Given the description of an element on the screen output the (x, y) to click on. 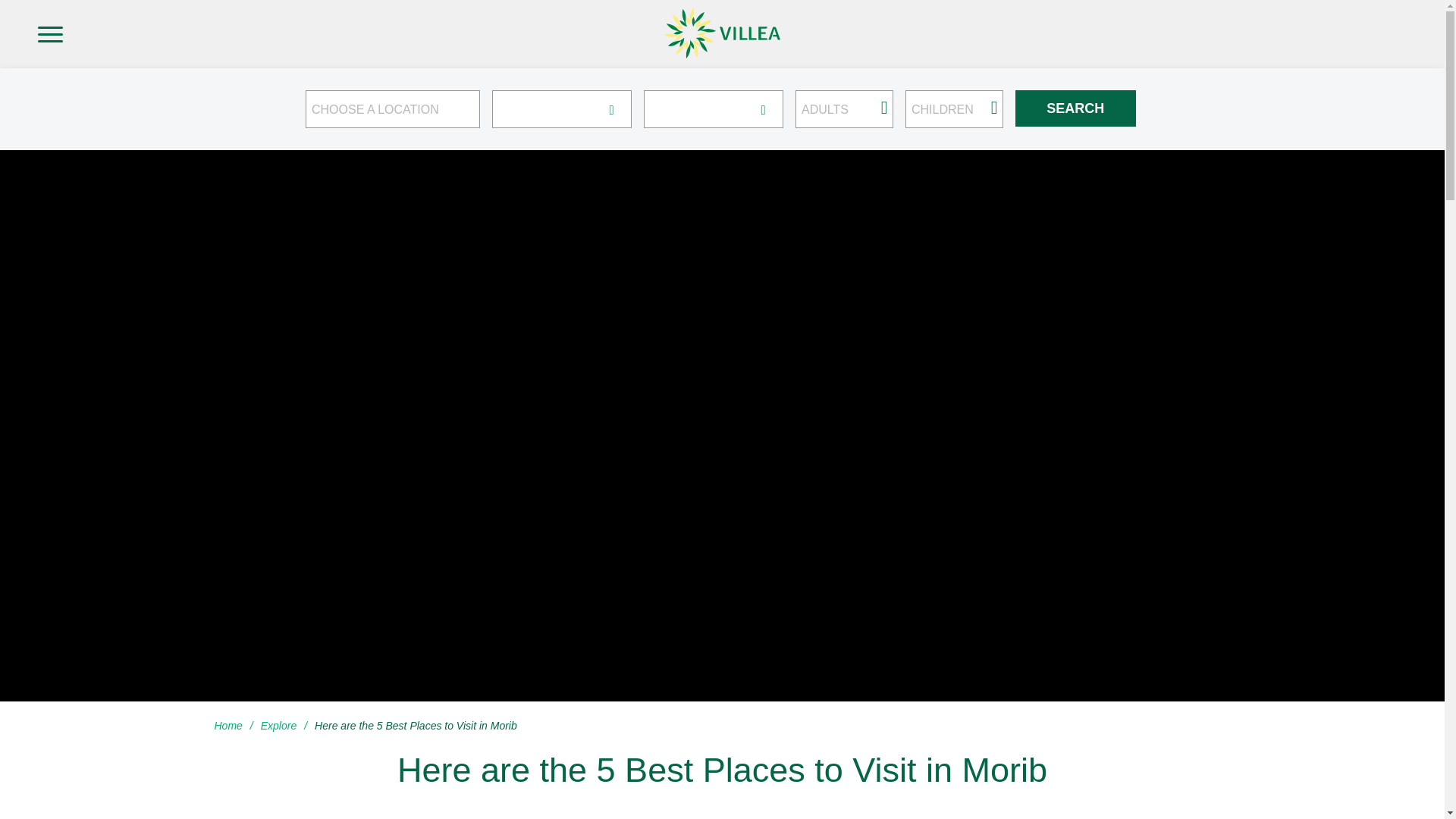
Home (231, 725)
SEARCH (1074, 108)
Explore (278, 725)
